Given the description of an element on the screen output the (x, y) to click on. 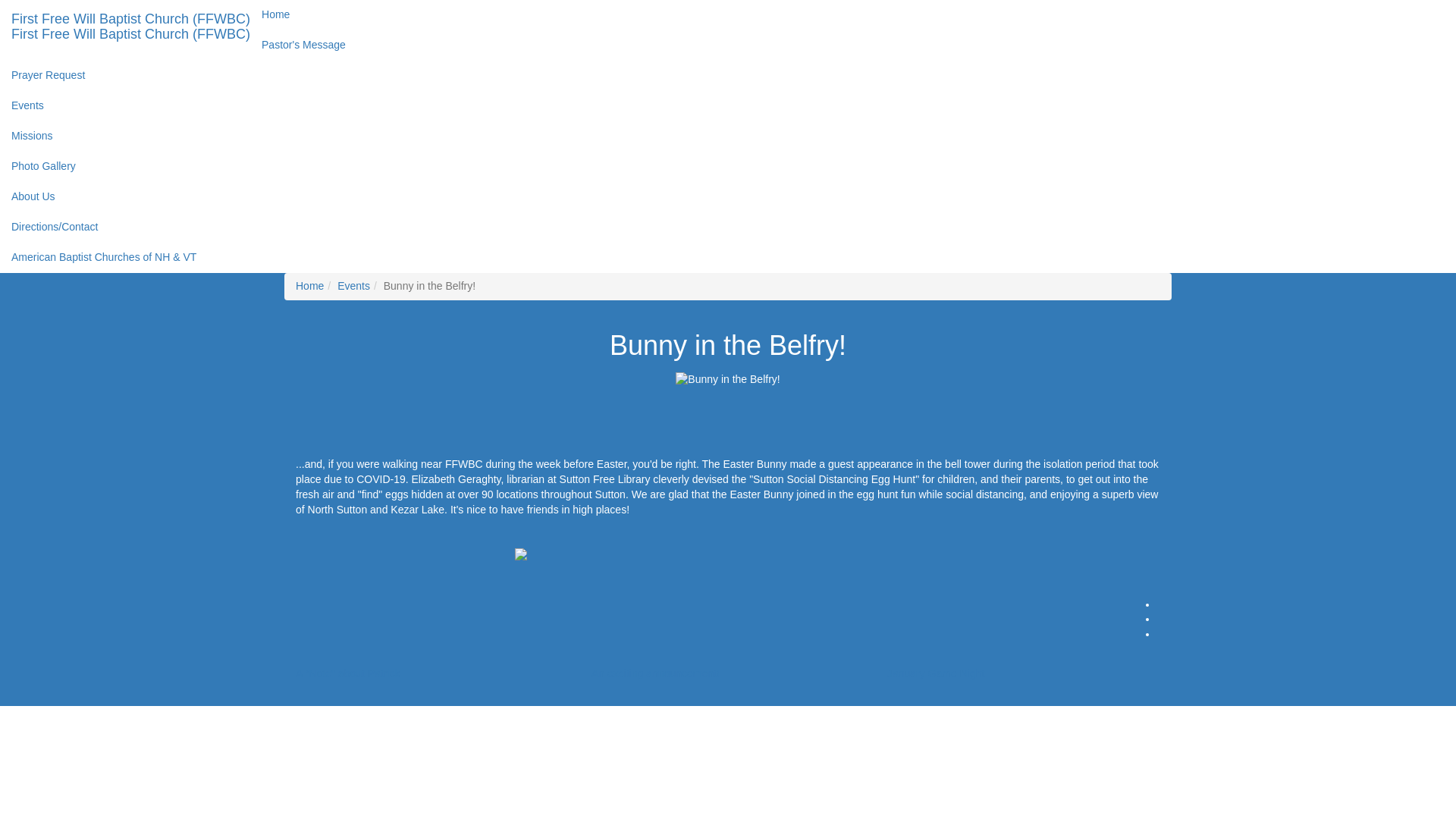
An exciting announcement! (655, 673)
Events (353, 285)
Home (309, 285)
January Game Night (935, 673)
A "Note" about Patrick (347, 673)
